Given the description of an element on the screen output the (x, y) to click on. 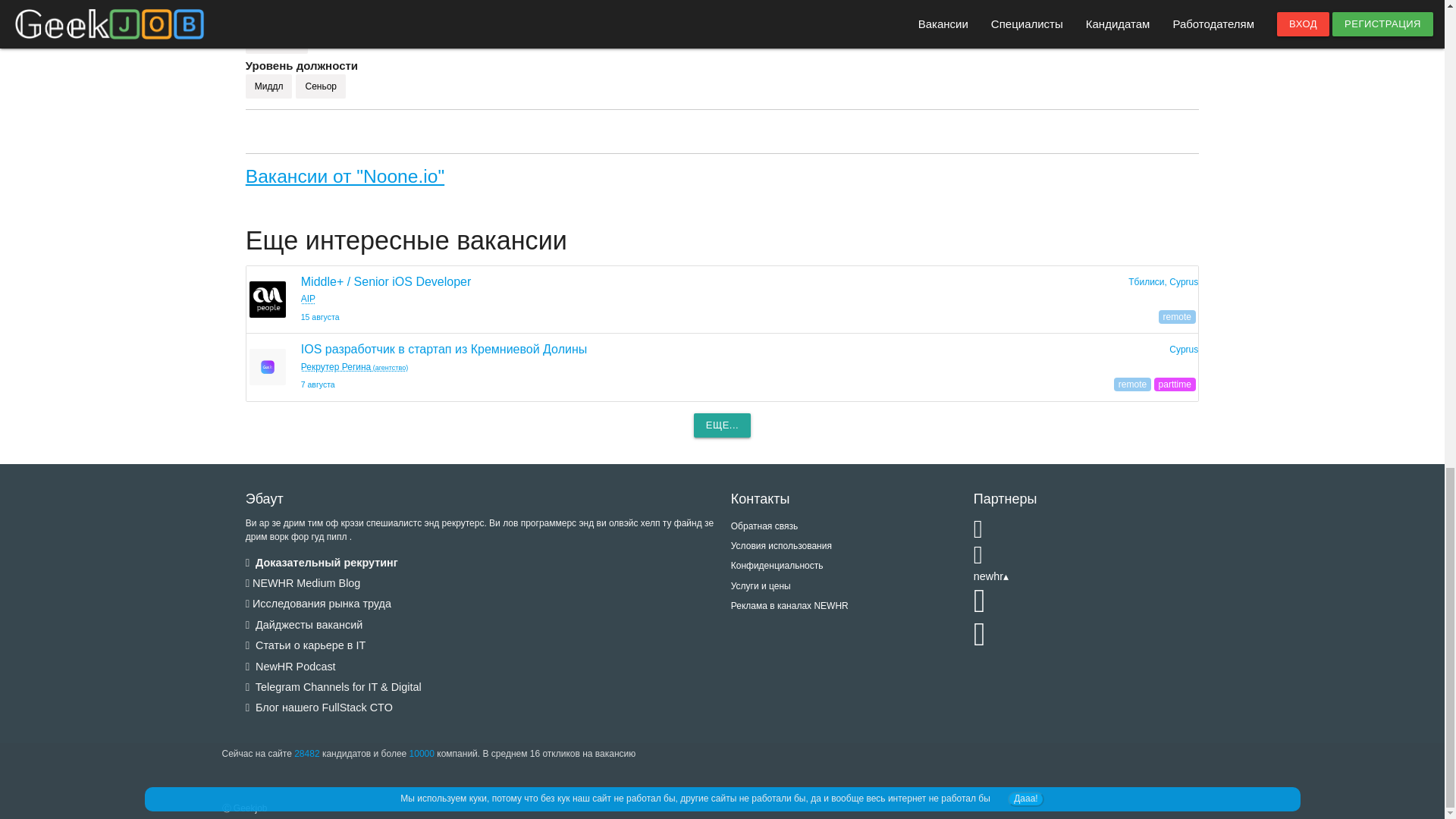
AIP (308, 298)
Swift (484, 4)
Blockchain (276, 41)
Objective-C (539, 4)
NEWHR Medium Blog (303, 582)
Cyprus (1183, 348)
